Given the description of an element on the screen output the (x, y) to click on. 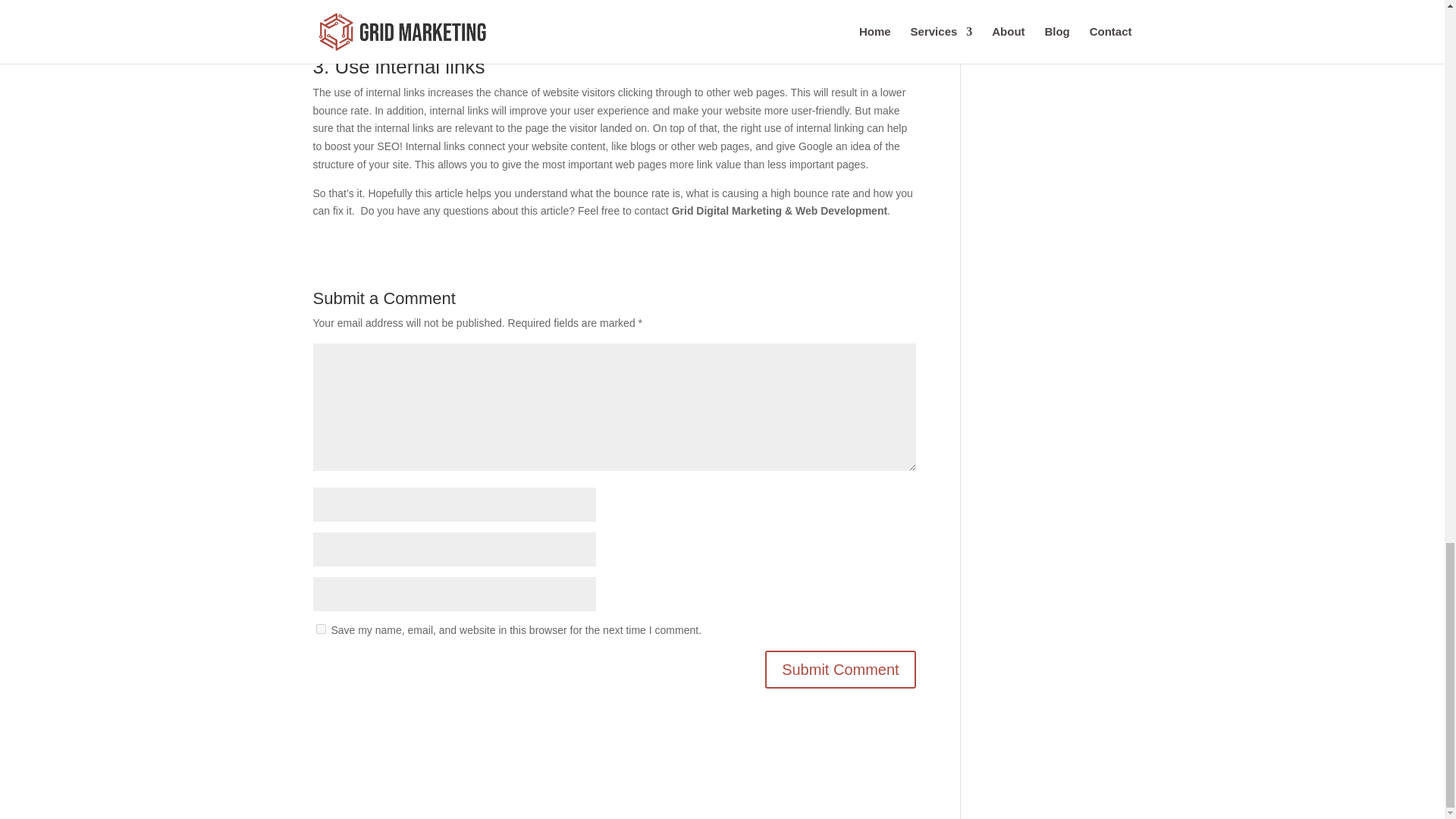
yes (319, 628)
Pingdom (718, 7)
Submit Comment (840, 669)
Google Page Speed Insights (827, 7)
Submit Comment (840, 669)
